Given the description of an element on the screen output the (x, y) to click on. 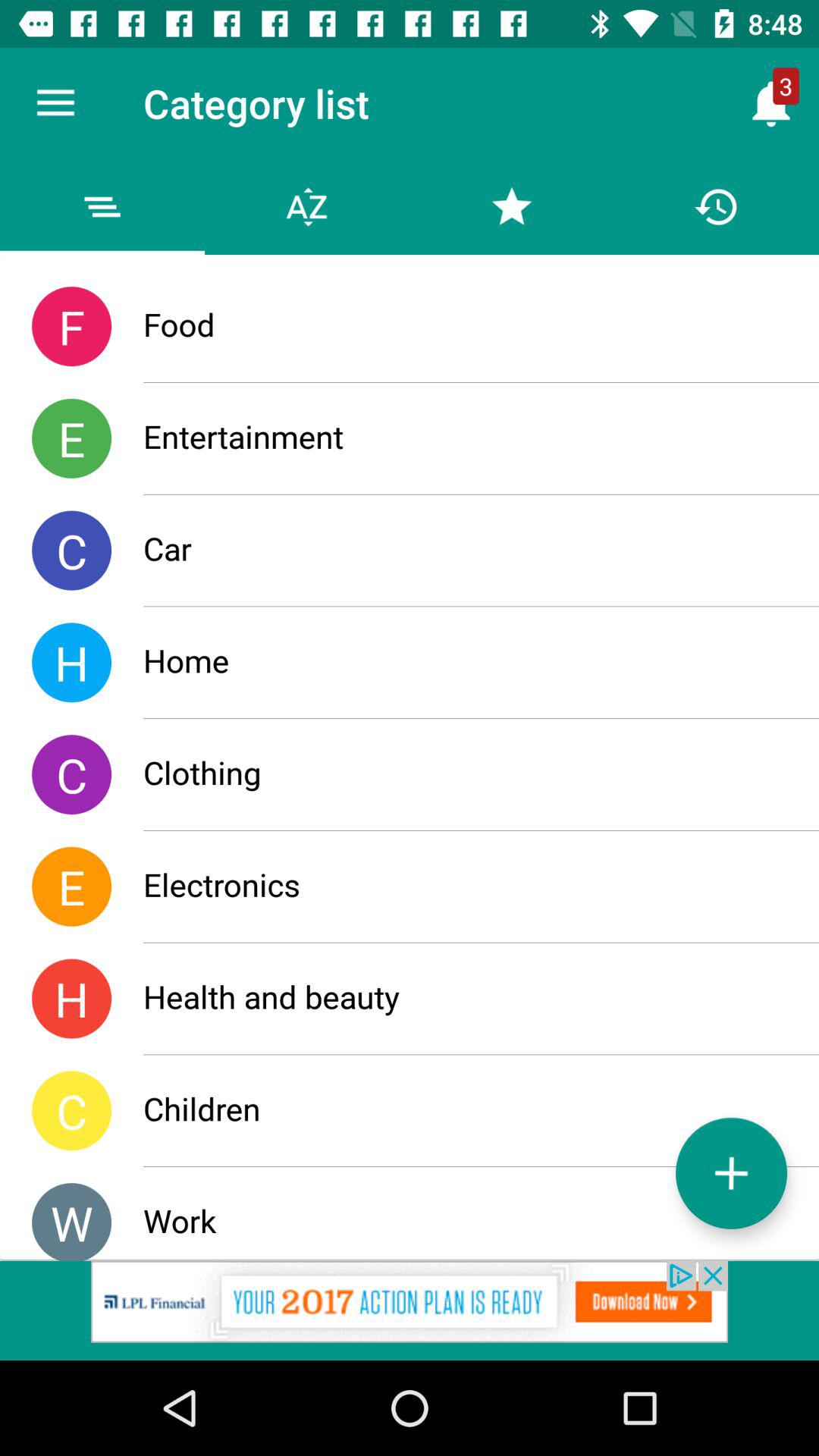
click the plus (731, 1173)
